Given the description of an element on the screen output the (x, y) to click on. 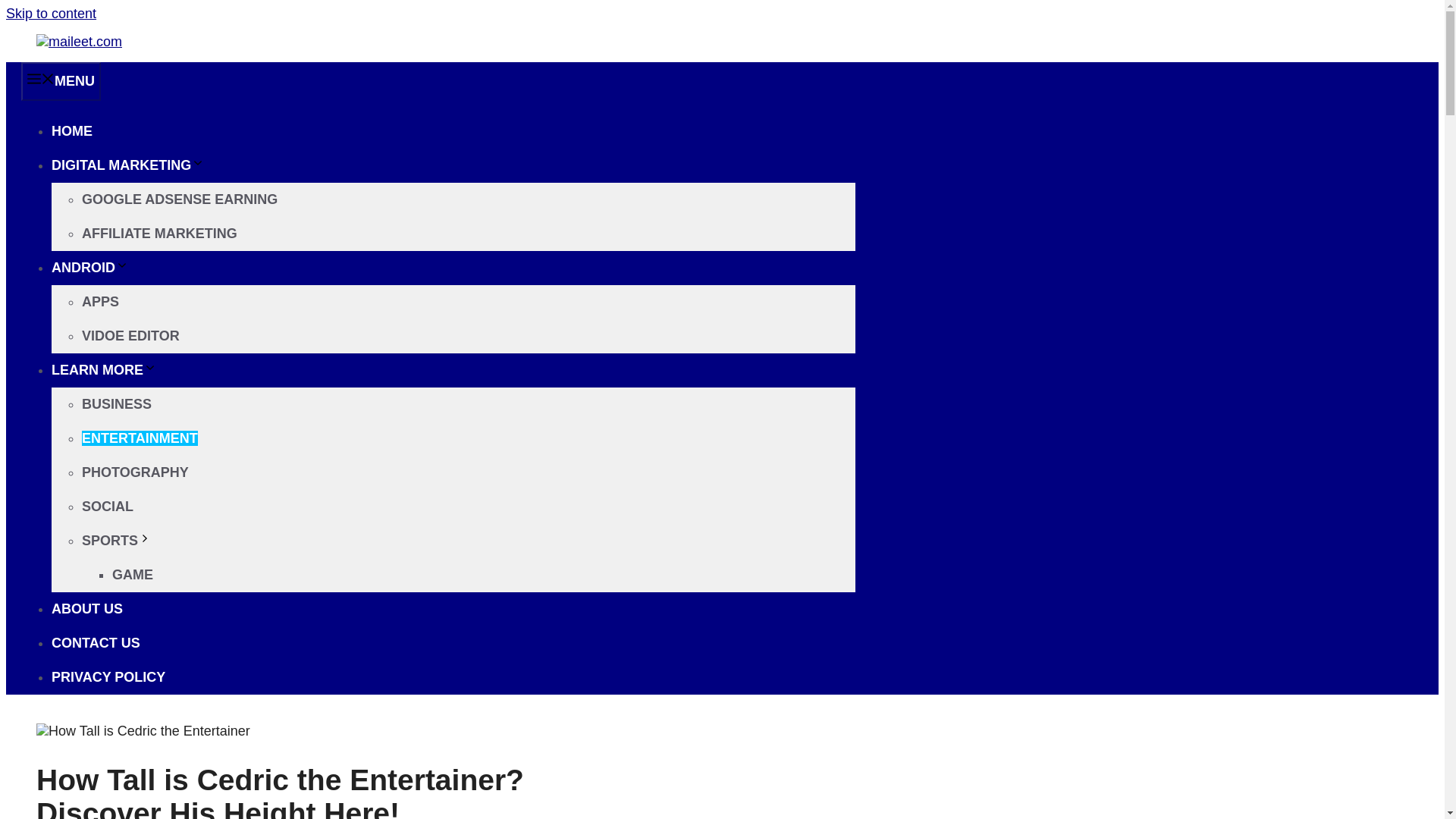
VIDOE EDITOR (130, 335)
GAME (132, 574)
BUSINESS (116, 403)
SOCIAL (107, 506)
PRIVACY POLICY (107, 676)
GOOGLE ADSENSE EARNING (179, 199)
CONTACT US (94, 642)
DIGITAL MARKETING (127, 165)
Skip to content (50, 13)
ENTERTAINMENT (139, 437)
Skip to content (50, 13)
PHOTOGRAPHY (135, 472)
ABOUT US (86, 608)
HOME (71, 130)
ANDROID (89, 267)
